Given the description of an element on the screen output the (x, y) to click on. 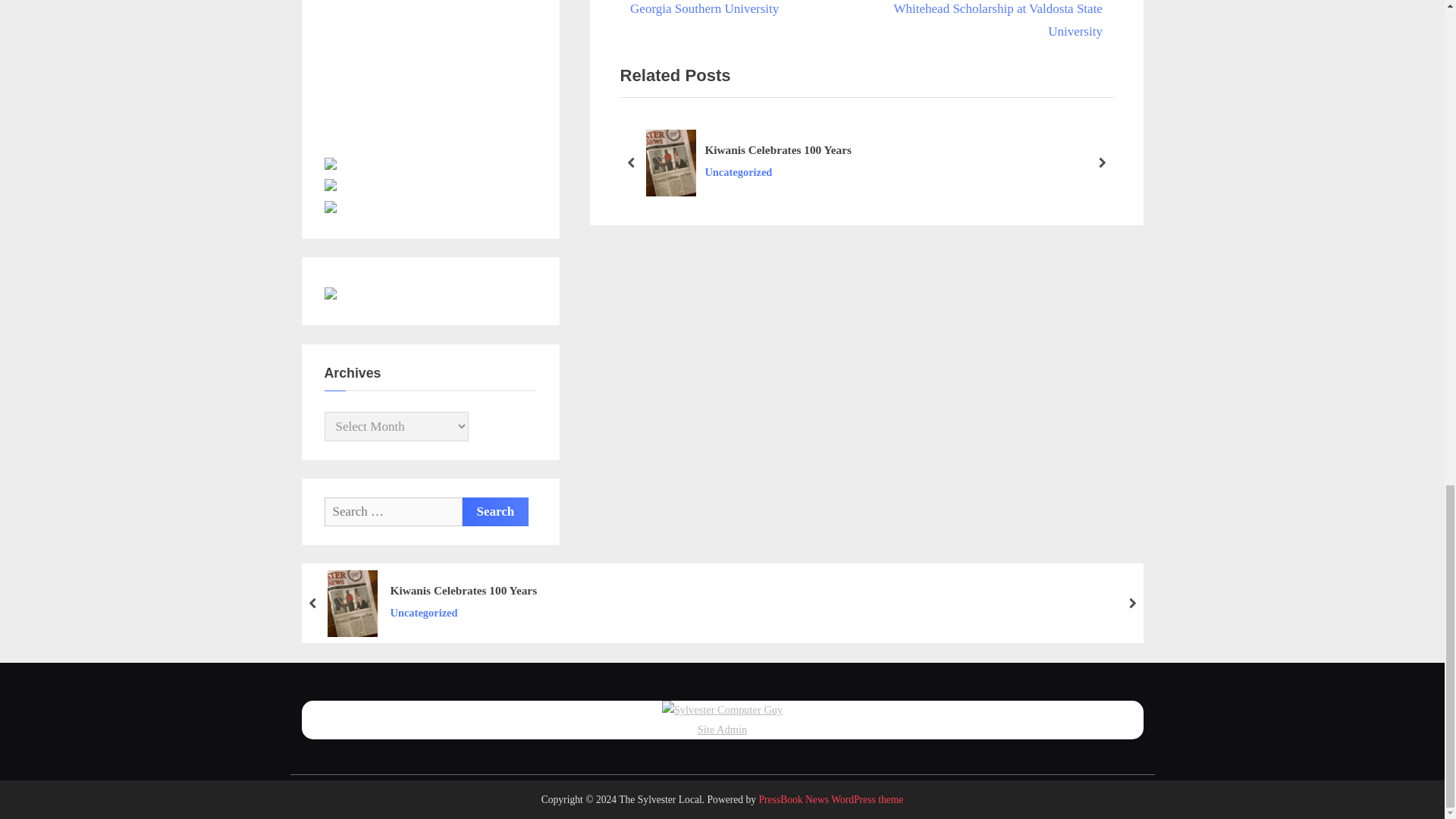
Search (496, 511)
Sylvester Computer Guy (722, 710)
Search (496, 511)
